Given the description of an element on the screen output the (x, y) to click on. 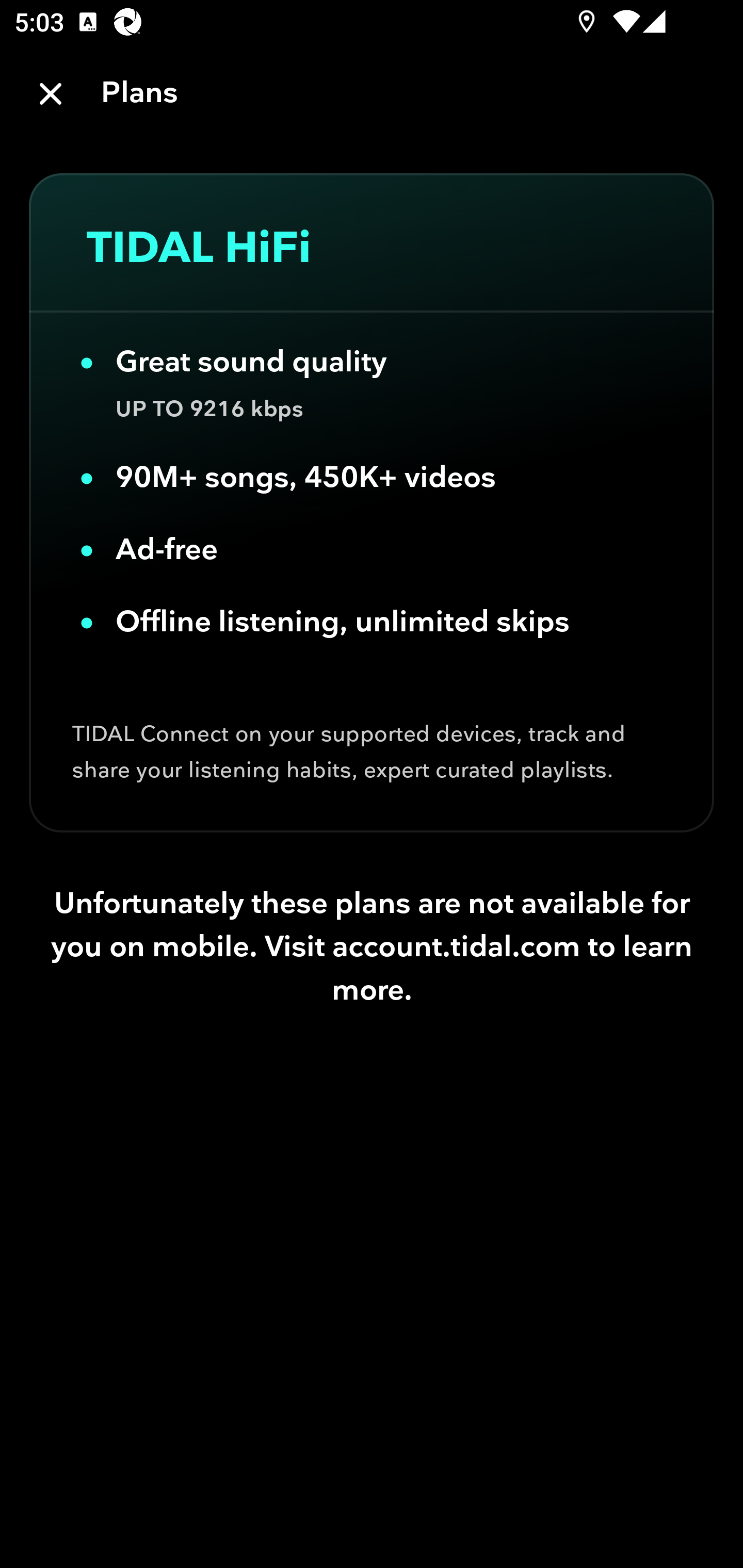
Close (50, 93)
